Given the description of an element on the screen output the (x, y) to click on. 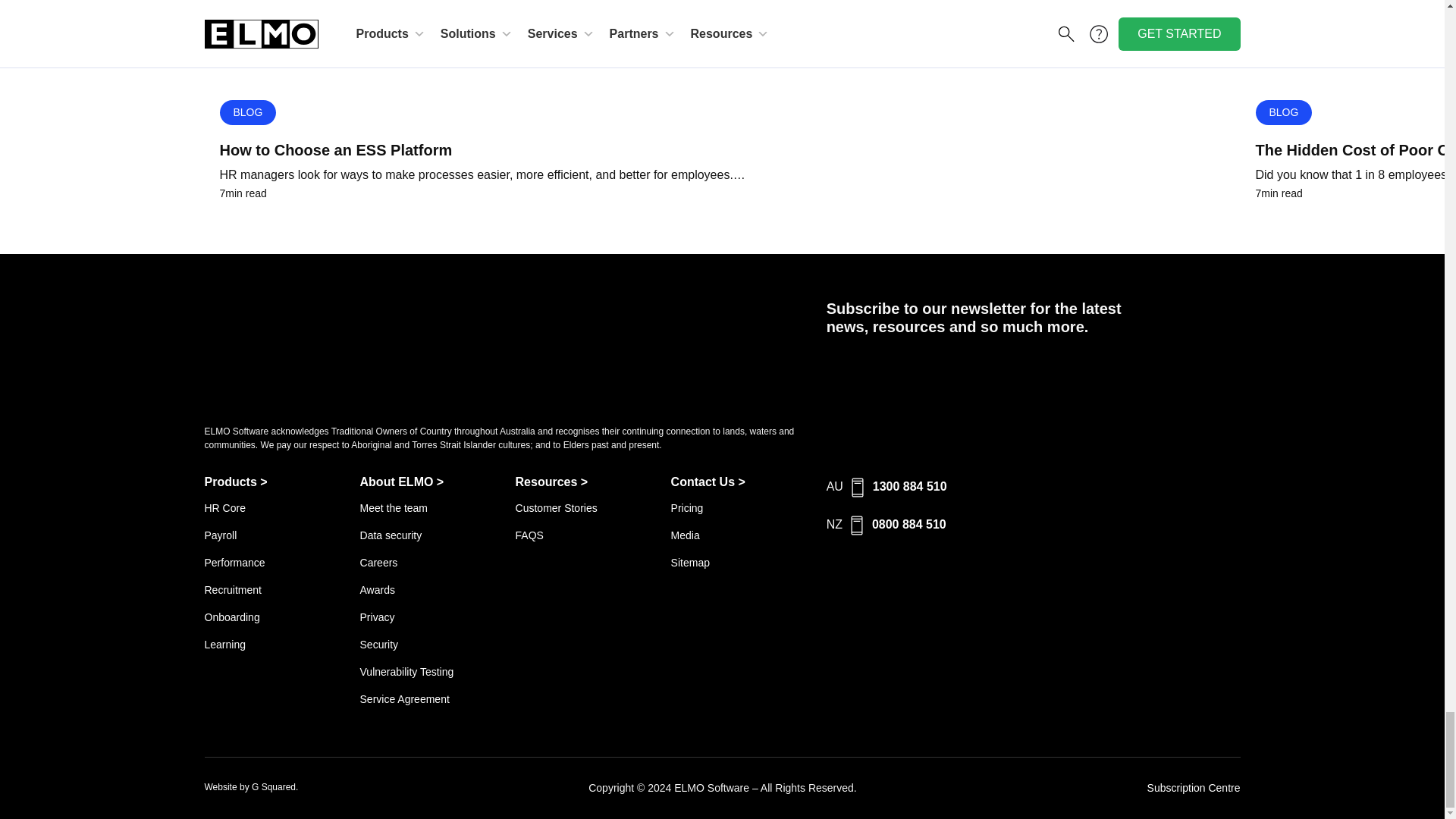
How to Choose an ESS Platform (722, 149)
